Given the description of an element on the screen output the (x, y) to click on. 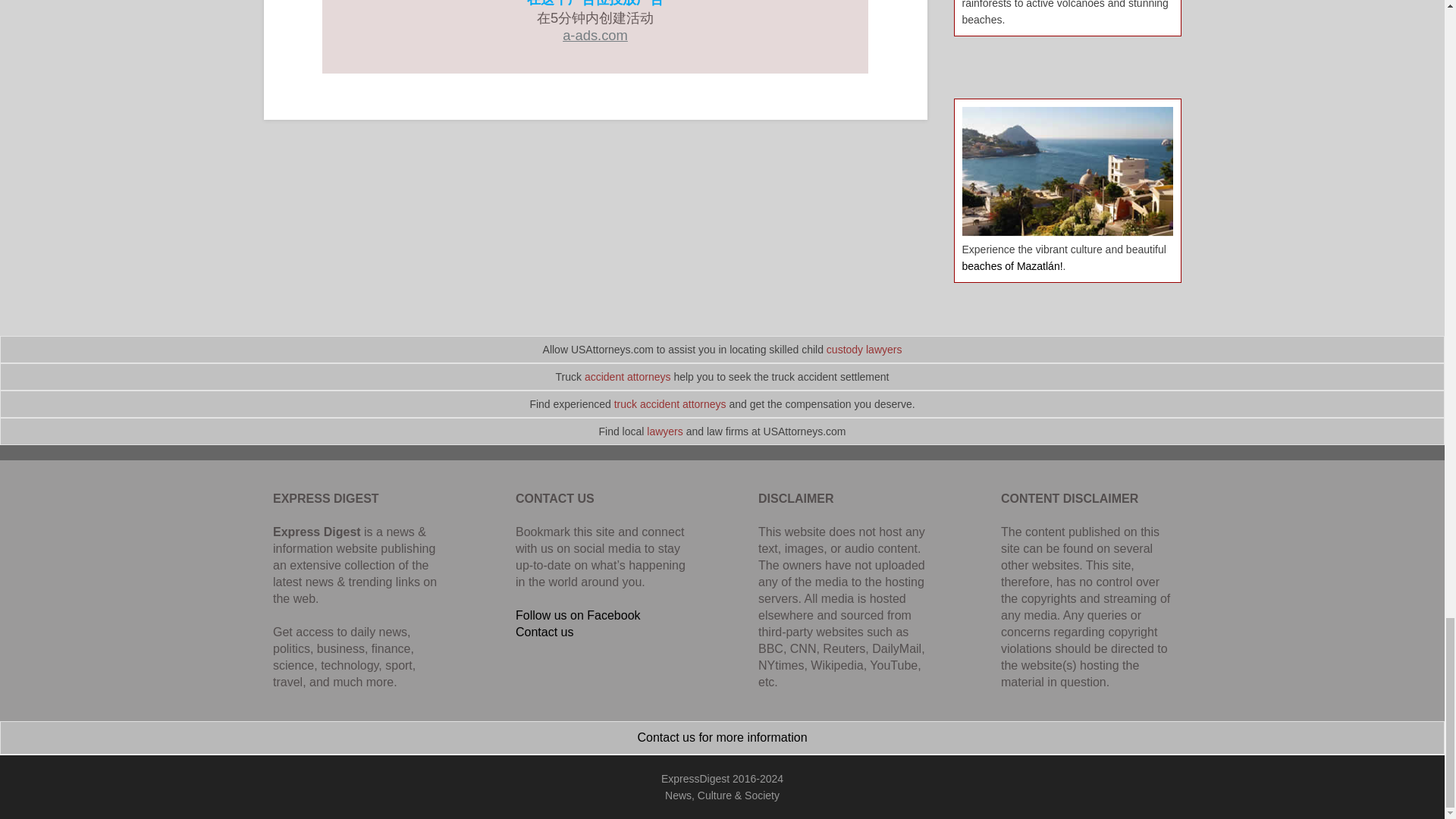
custody lawyers (864, 349)
